Given the description of an element on the screen output the (x, y) to click on. 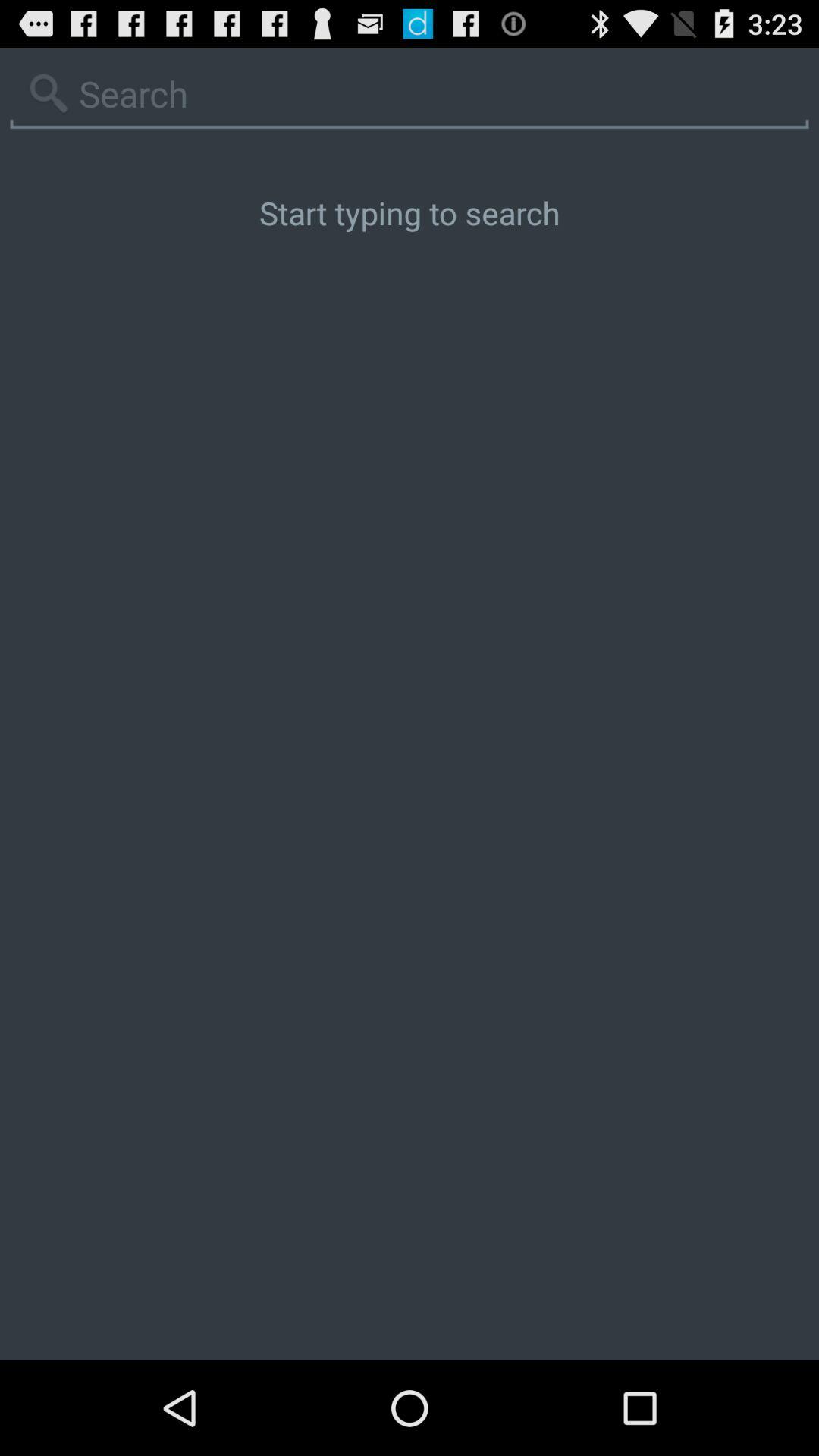
go to search (409, 94)
